Given the description of an element on the screen output the (x, y) to click on. 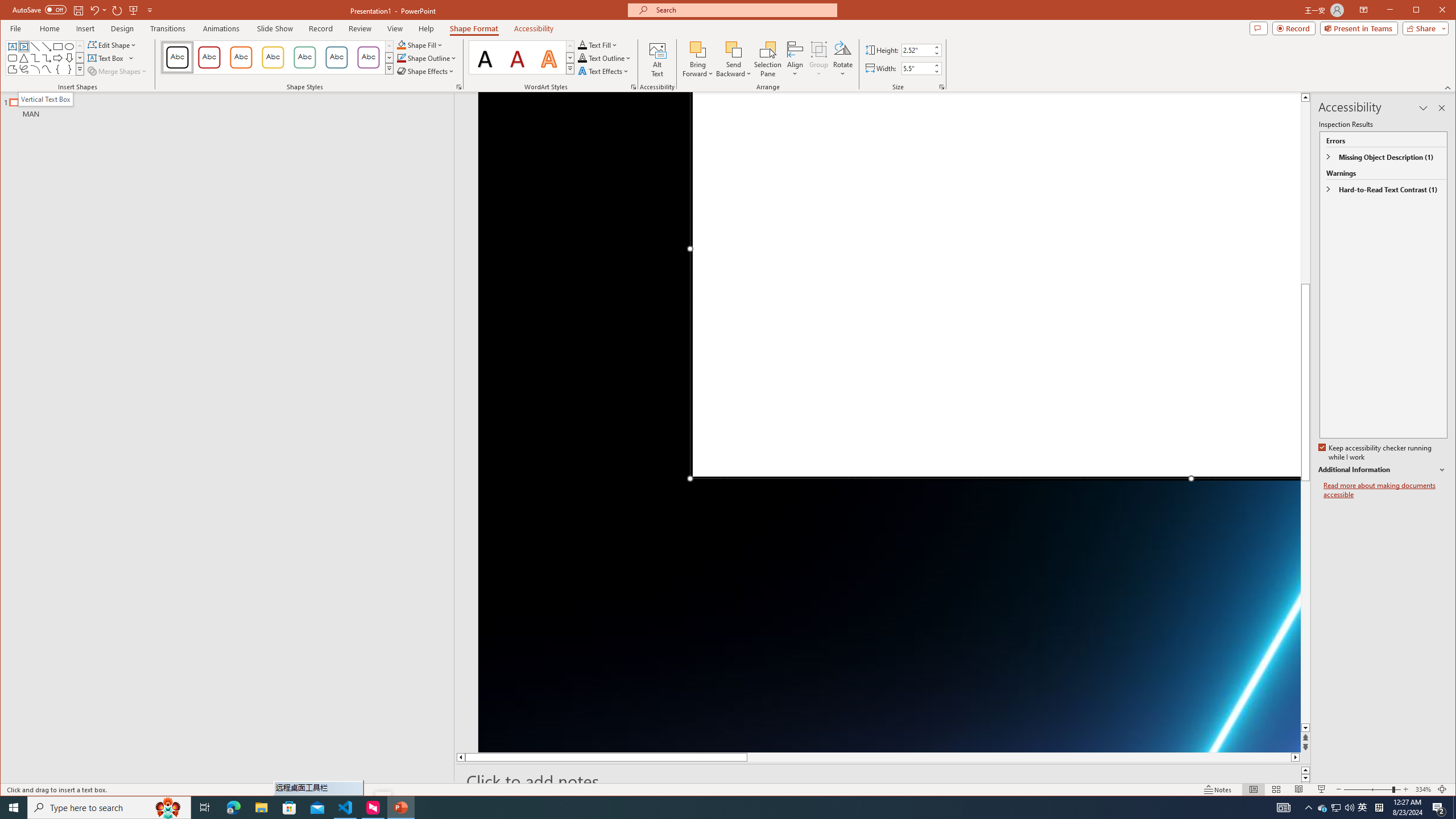
Rotate (842, 59)
Shape Height (916, 50)
Align (794, 59)
